Given the description of an element on the screen output the (x, y) to click on. 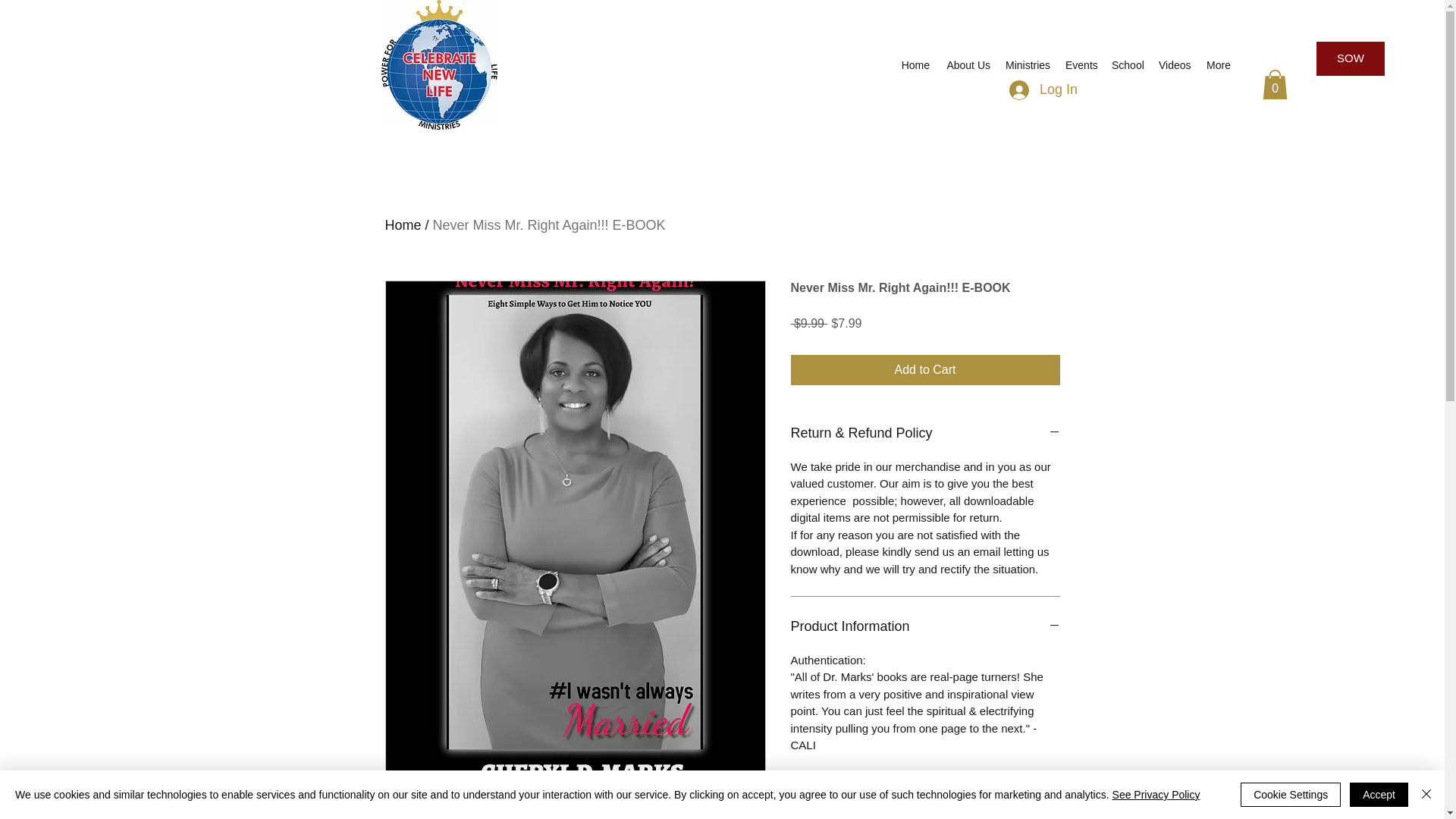
Home (915, 65)
Add to Cart (924, 369)
SOW (1350, 58)
Cookie Settings (1290, 794)
About Us (967, 65)
School (1127, 65)
Events (1080, 65)
Videos (1174, 65)
Ministries (1027, 65)
Log In (1042, 90)
Home (403, 224)
Product Information (924, 627)
See Privacy Policy (1155, 794)
Accept (1378, 794)
Never Miss Mr. Right Again!!! E-BOOK (548, 224)
